Given the description of an element on the screen output the (x, y) to click on. 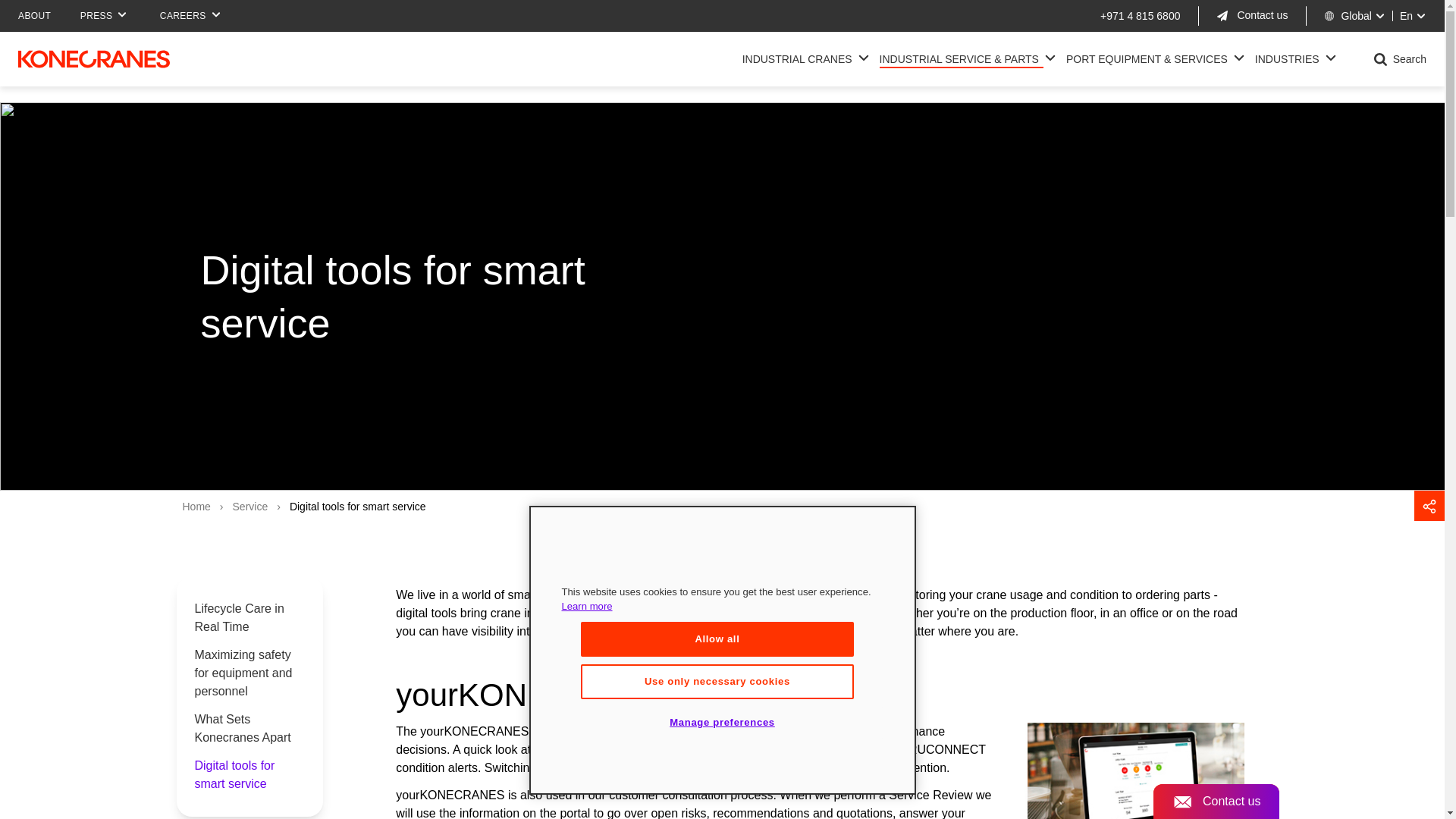
Home (93, 58)
We Set the Benchmark (799, 58)
Search (1228, 48)
